Given the description of an element on the screen output the (x, y) to click on. 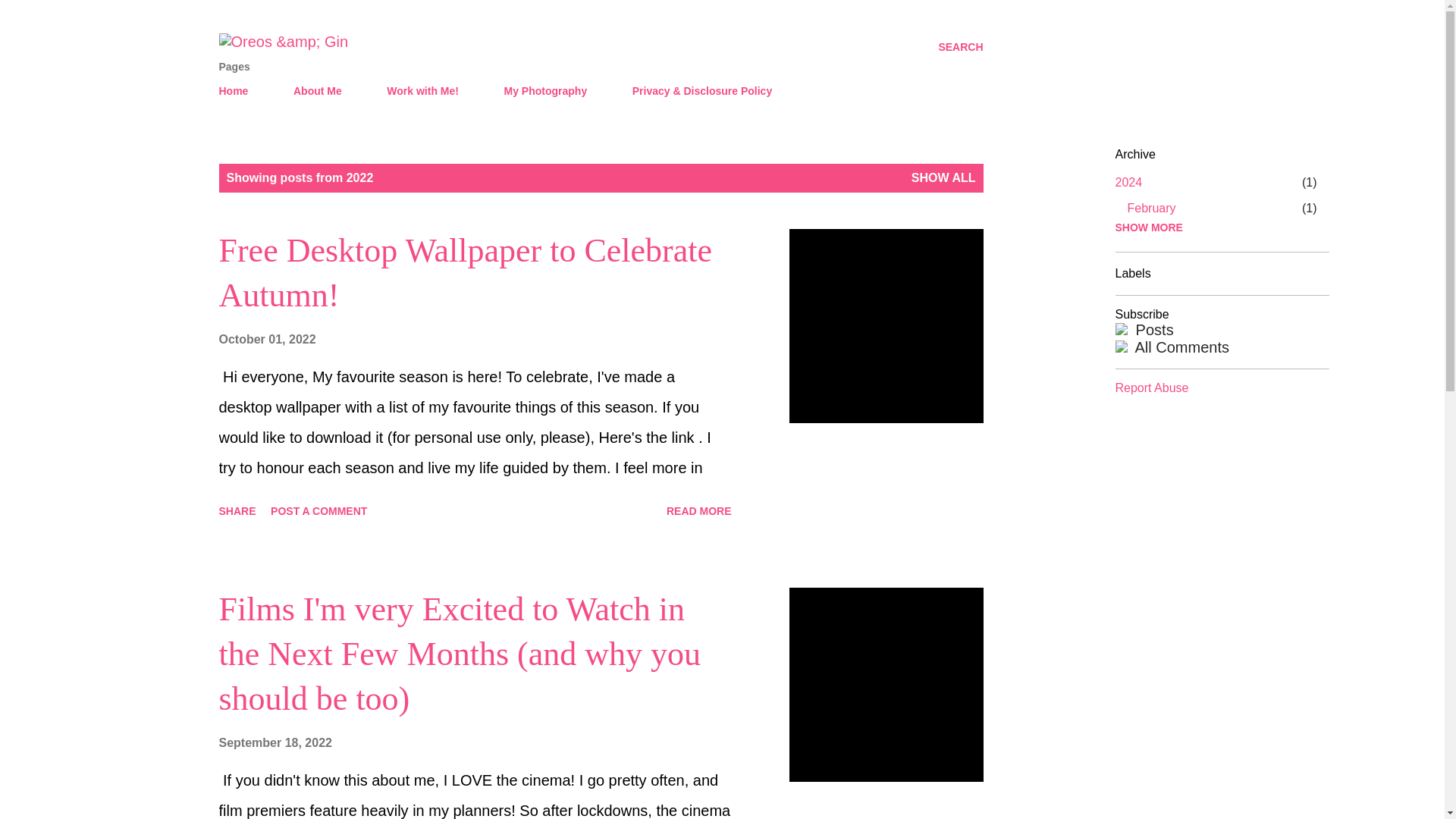
Free Desktop Wallpaper to Celebrate Autumn! (699, 510)
Free Desktop Wallpaper to Celebrate Autumn! (464, 272)
READ MORE (699, 510)
SHARE (237, 510)
permanent link (266, 338)
My Photography (545, 91)
September 18, 2022 (274, 742)
SHOW ALL (943, 178)
About Me (316, 91)
Work with Me! (422, 91)
